Given the description of an element on the screen output the (x, y) to click on. 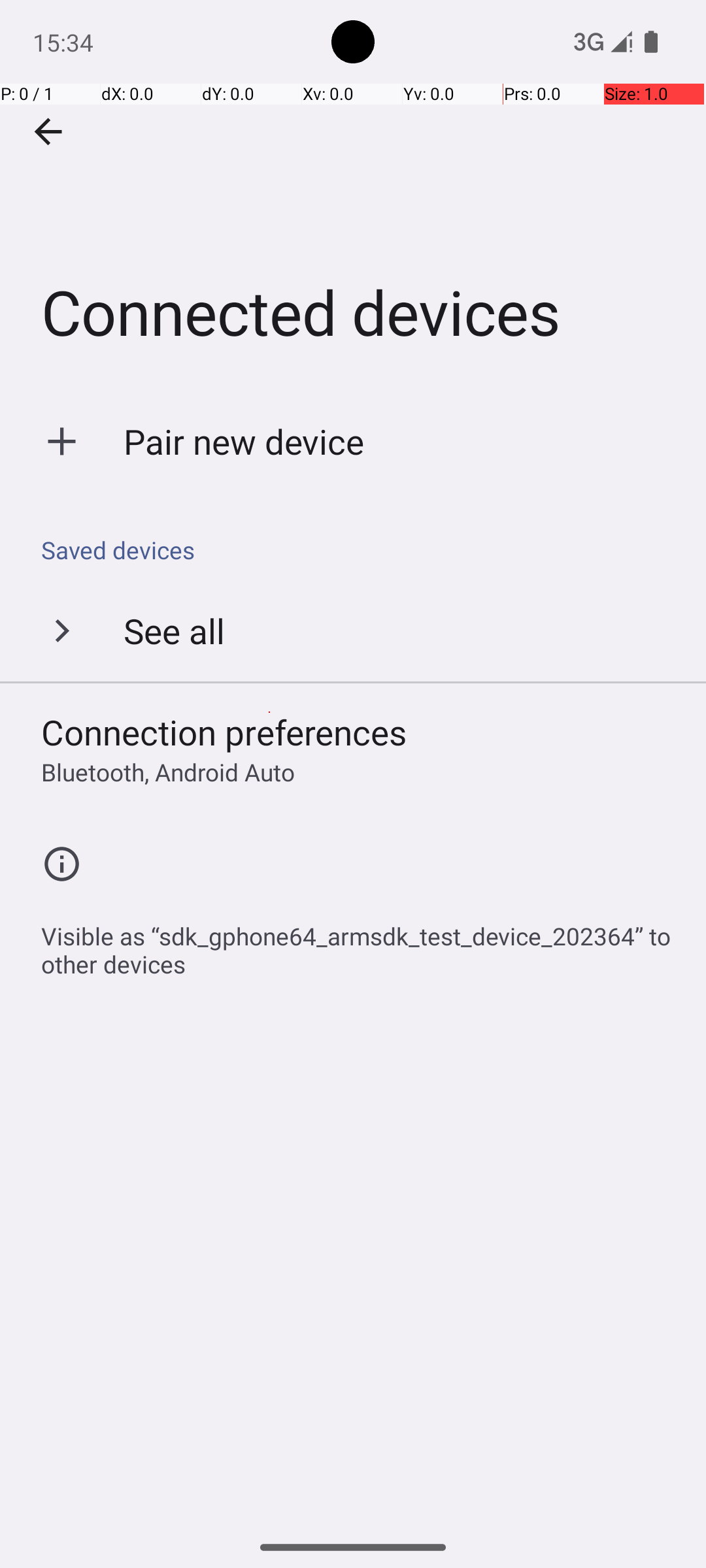
Visible as “sdk_gphone64_armsdk_test_device_202364” to other devices Element type: android.widget.TextView (359, 942)
